Given the description of an element on the screen output the (x, y) to click on. 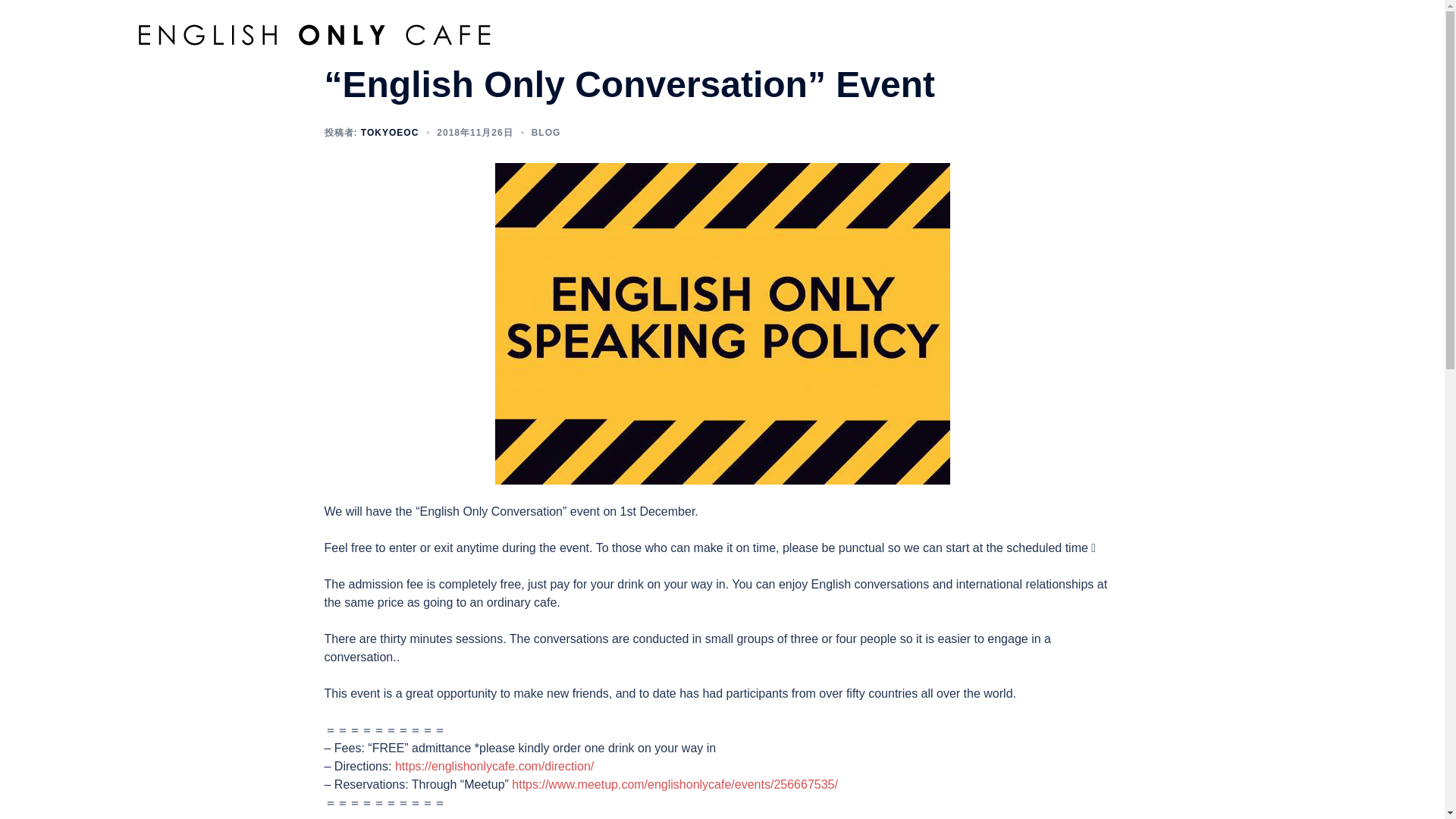
Go Abroad (1143, 24)
ENGLISH (1272, 24)
Language (969, 24)
About (855, 24)
Event (1028, 24)
Lesson (1079, 24)
TOKYOEOC (390, 132)
Contact (1209, 24)
Service (907, 24)
BLOG (545, 132)
